Given the description of an element on the screen output the (x, y) to click on. 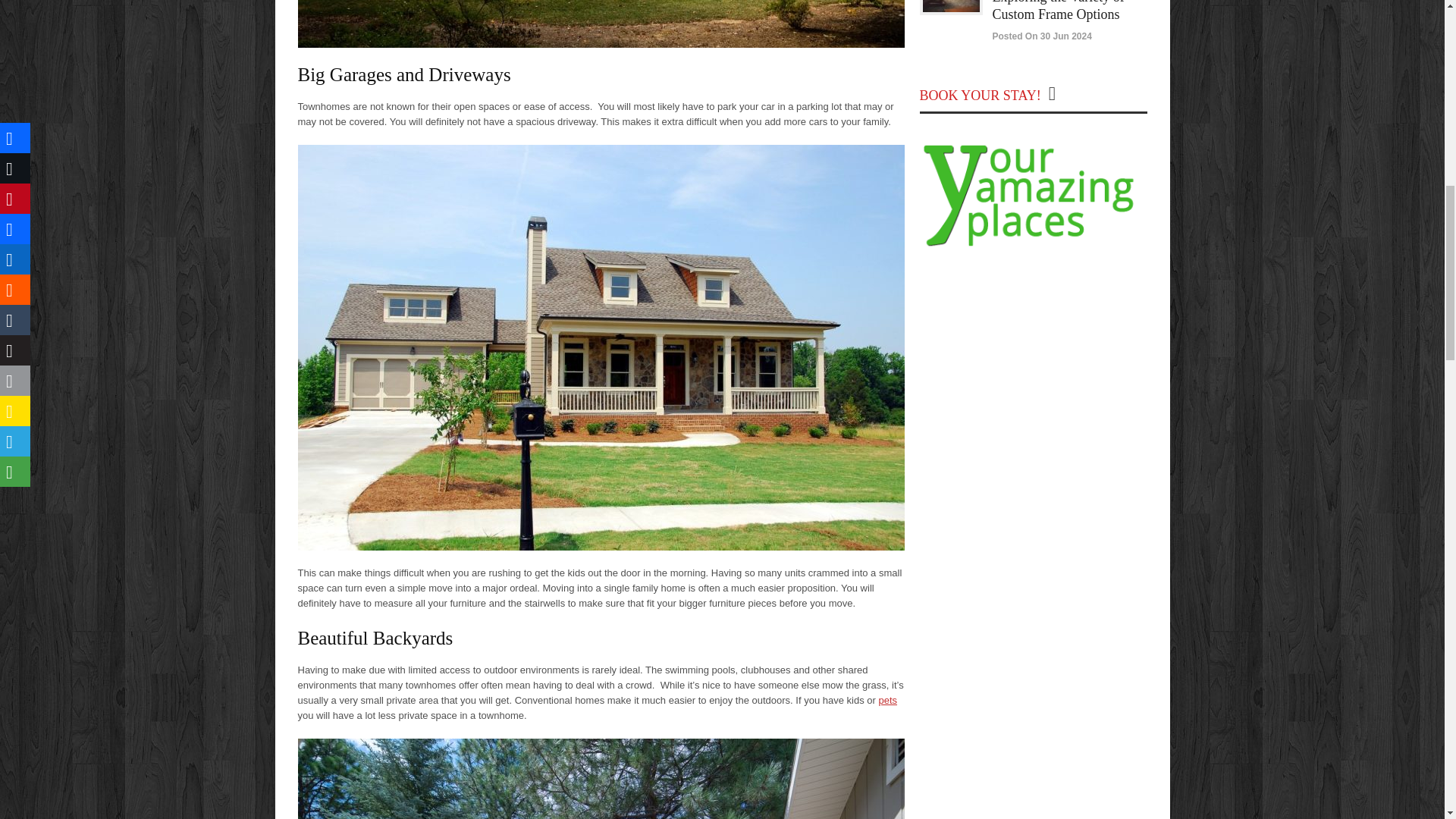
5 Perks of a Single Family Home VS a Townhome (600, 778)
5 Perks of a Single Family Home VS a Townhome (600, 23)
